Given the description of an element on the screen output the (x, y) to click on. 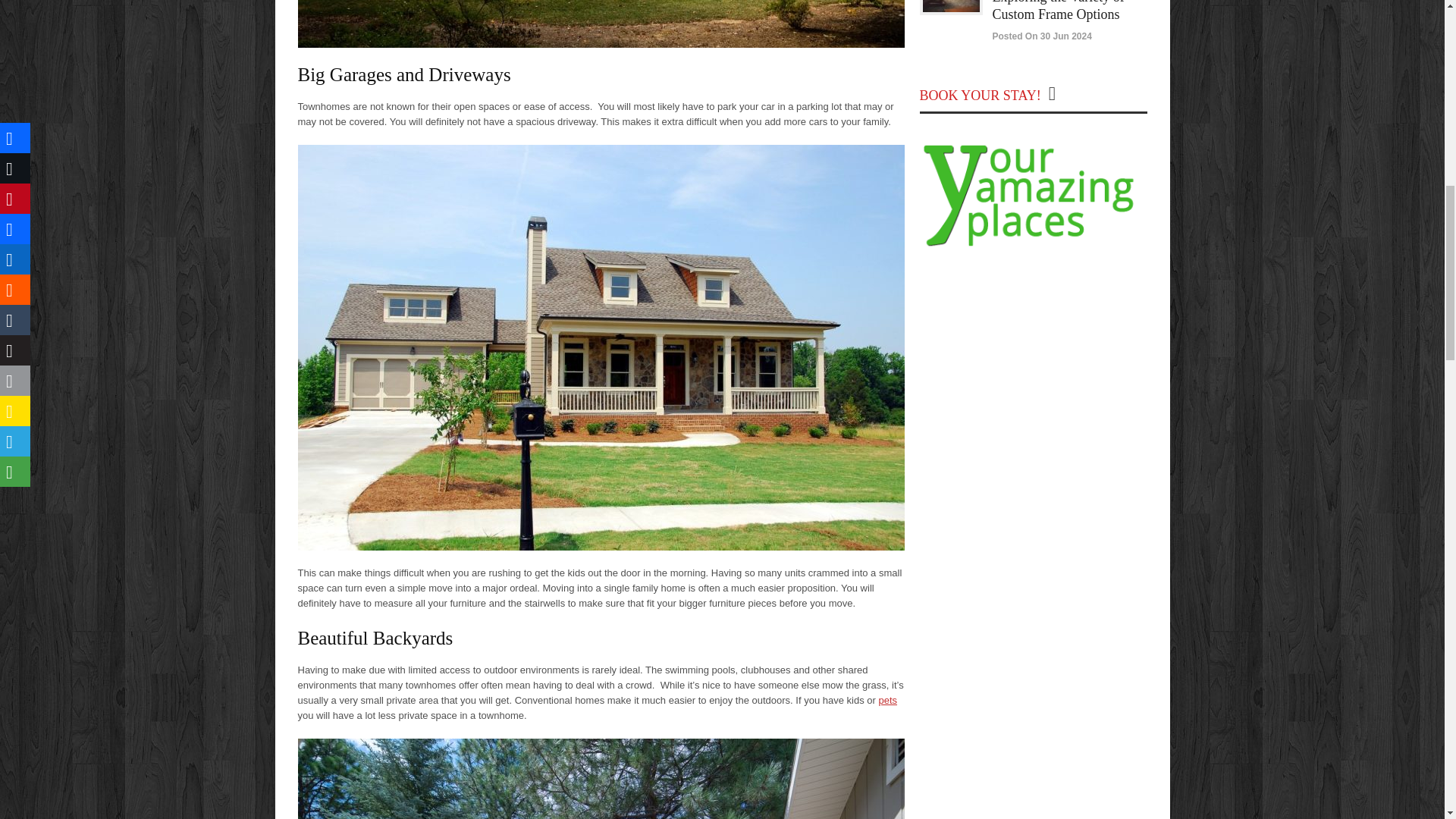
5 Perks of a Single Family Home VS a Townhome (600, 778)
5 Perks of a Single Family Home VS a Townhome (600, 23)
